Given the description of an element on the screen output the (x, y) to click on. 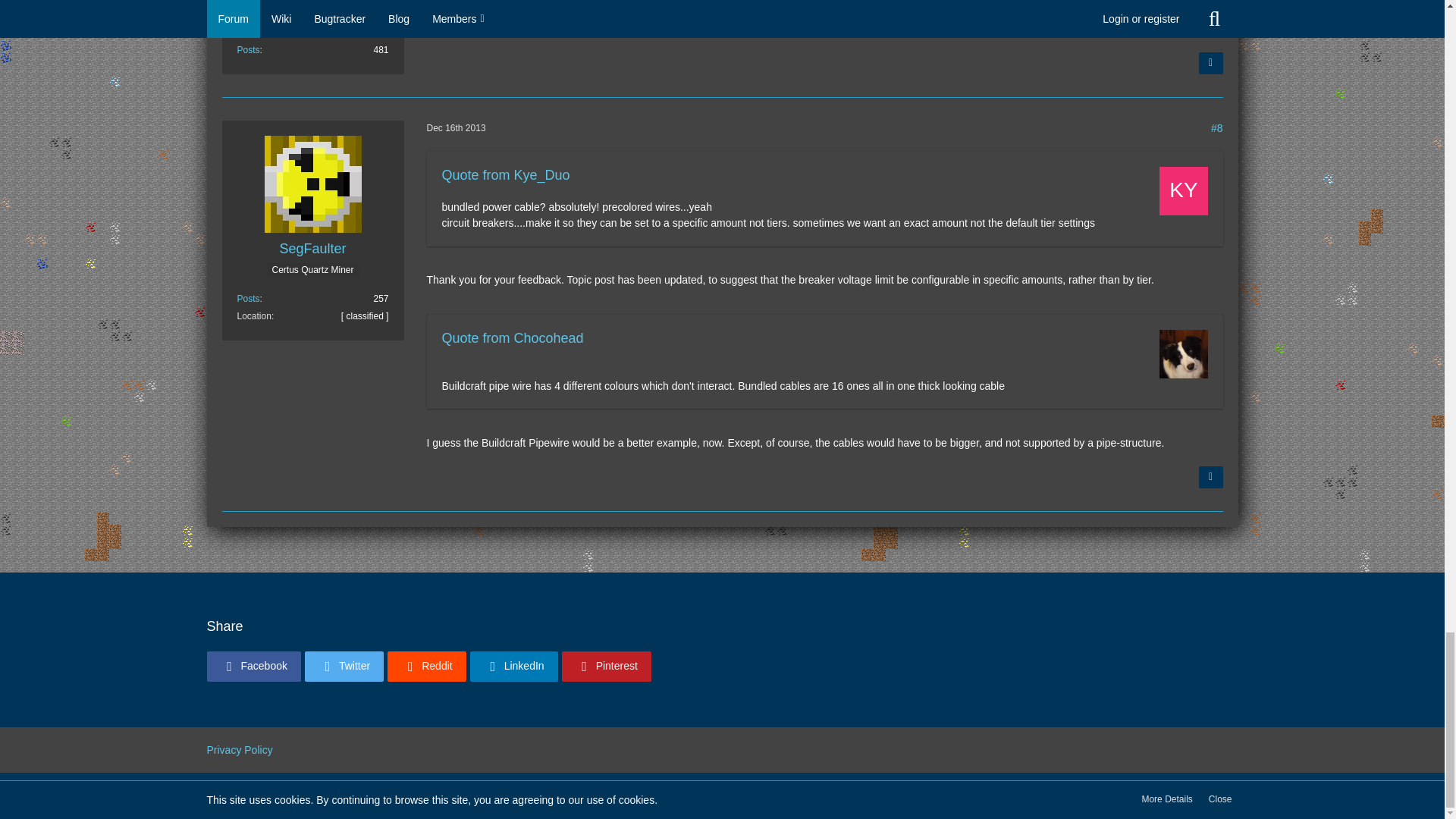
Reddit (426, 666)
Twitter (344, 666)
Facebook (252, 666)
